Given the description of an element on the screen output the (x, y) to click on. 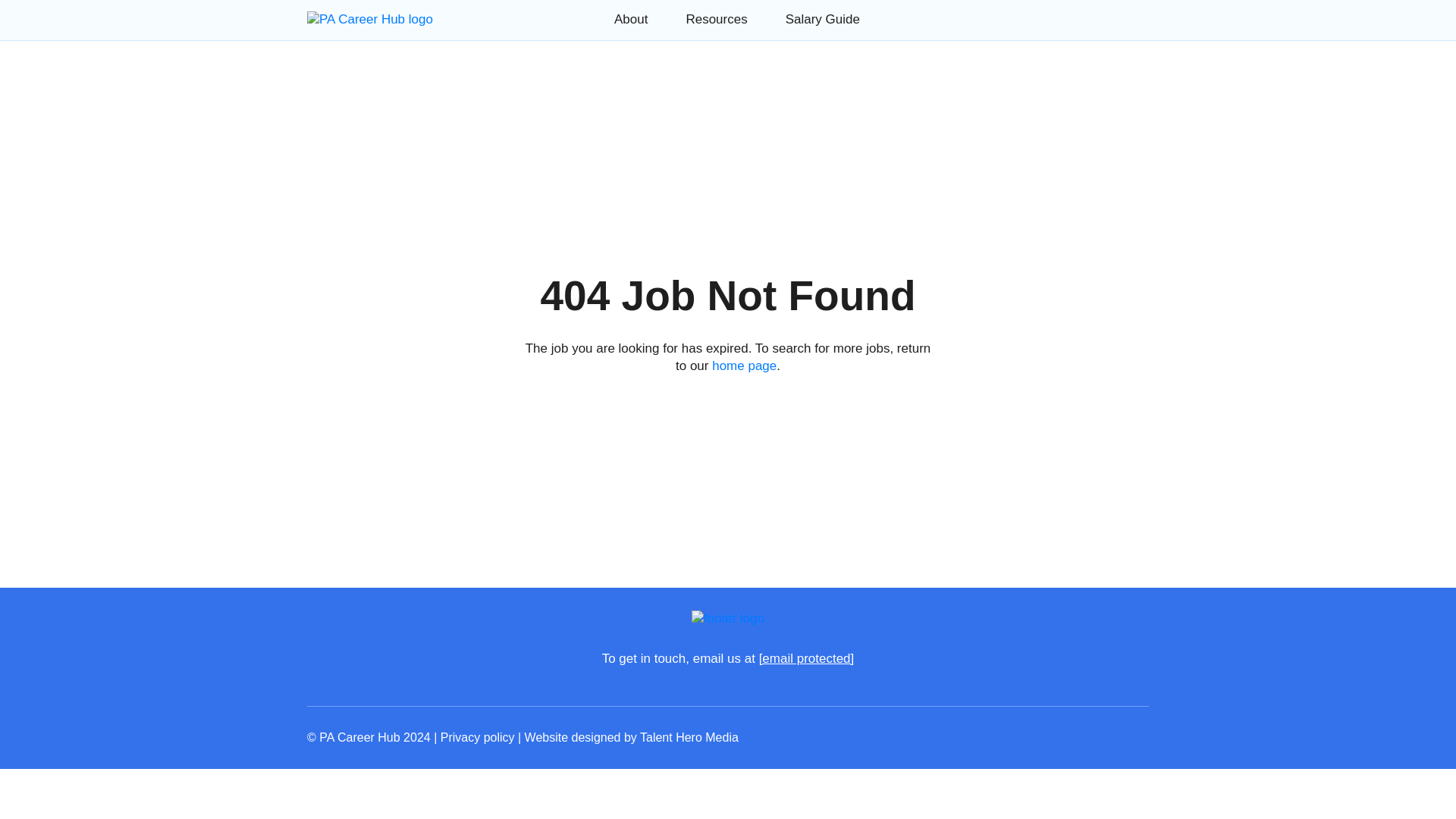
Resources (715, 19)
Search (196, 82)
About (630, 19)
home page (743, 365)
Salary Guide (823, 19)
